Given the description of an element on the screen output the (x, y) to click on. 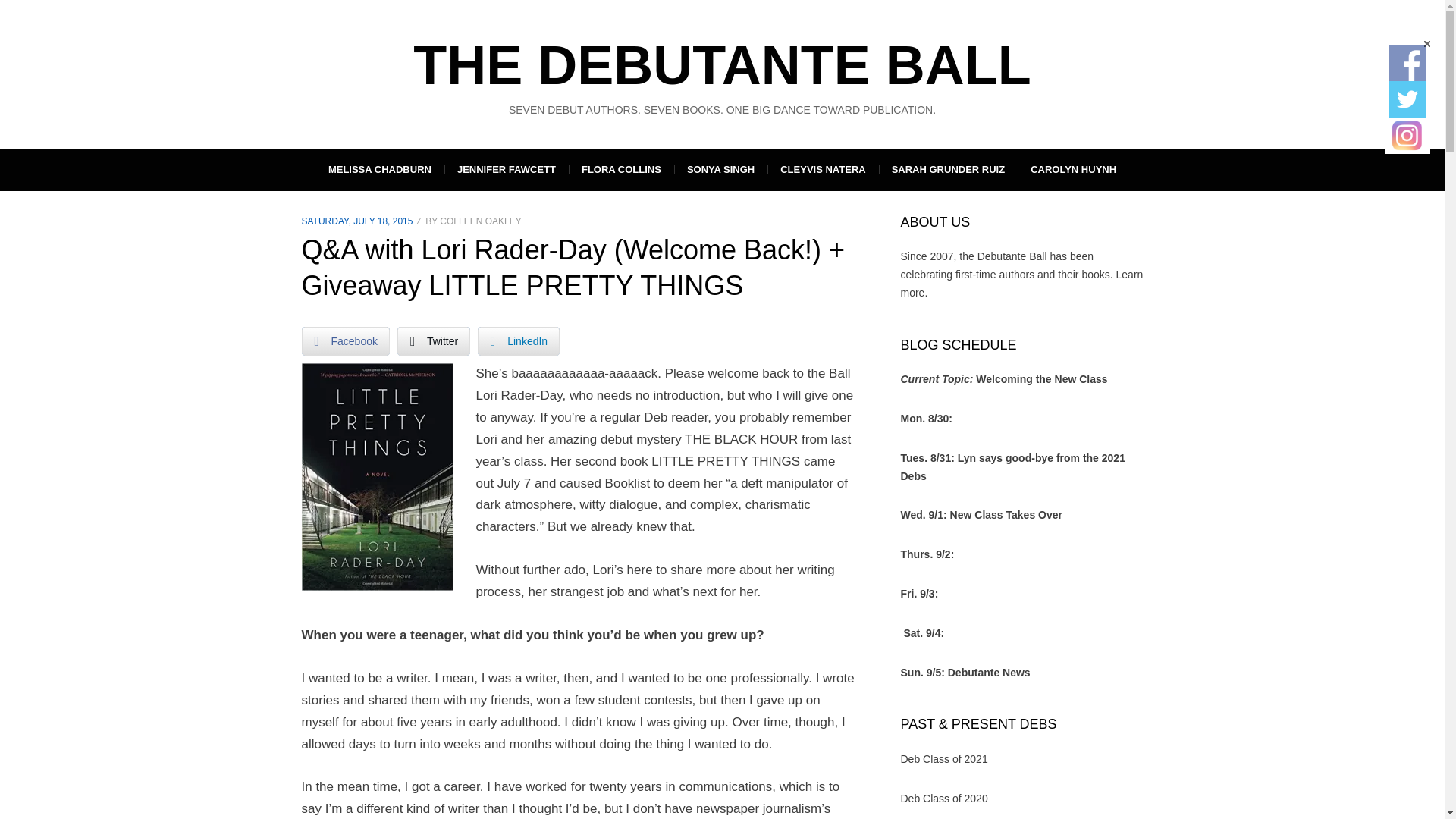
CLEYVIS NATERA (822, 169)
hide (1426, 43)
More...View Our Instagram Feed (1407, 135)
LinkedIn (518, 340)
MELISSA CHADBURN (379, 169)
SARAH GRUNDER RUIZ (948, 169)
Twitter (433, 340)
View Our Twitter Feed (1407, 99)
JENNIFER FAWCETT (506, 169)
Visit Our Facebook Page (1407, 63)
COLLEEN OAKLEY (480, 221)
THE DEBUTANTE BALL (721, 65)
SONYA SINGH (720, 169)
The Debutante Ball (721, 65)
CAROLYN HUYNH (1073, 169)
